Given the description of an element on the screen output the (x, y) to click on. 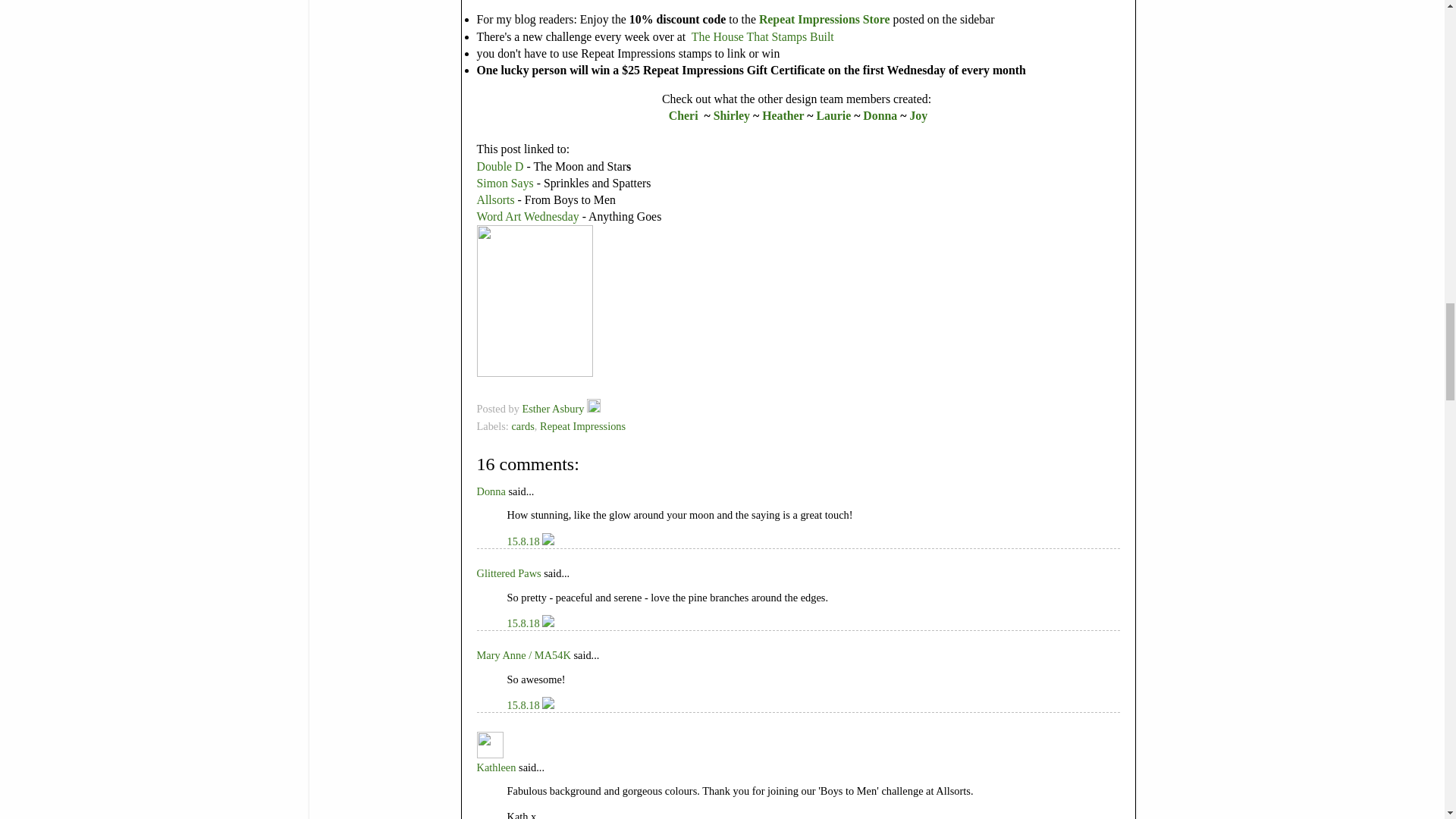
Delete Comment (547, 623)
Glittered Paws (508, 573)
Repeat Impressions Store (825, 19)
Donna (881, 115)
comment permalink (523, 541)
Word Art Wednesday (528, 215)
Delete Comment (547, 541)
Esther Asbury (553, 408)
Heather (782, 115)
Cheri  (686, 115)
Double D (499, 165)
Donna (490, 491)
comment permalink (523, 623)
The House That Stamps Built (761, 36)
15.8.18 (523, 541)
